Given the description of an element on the screen output the (x, y) to click on. 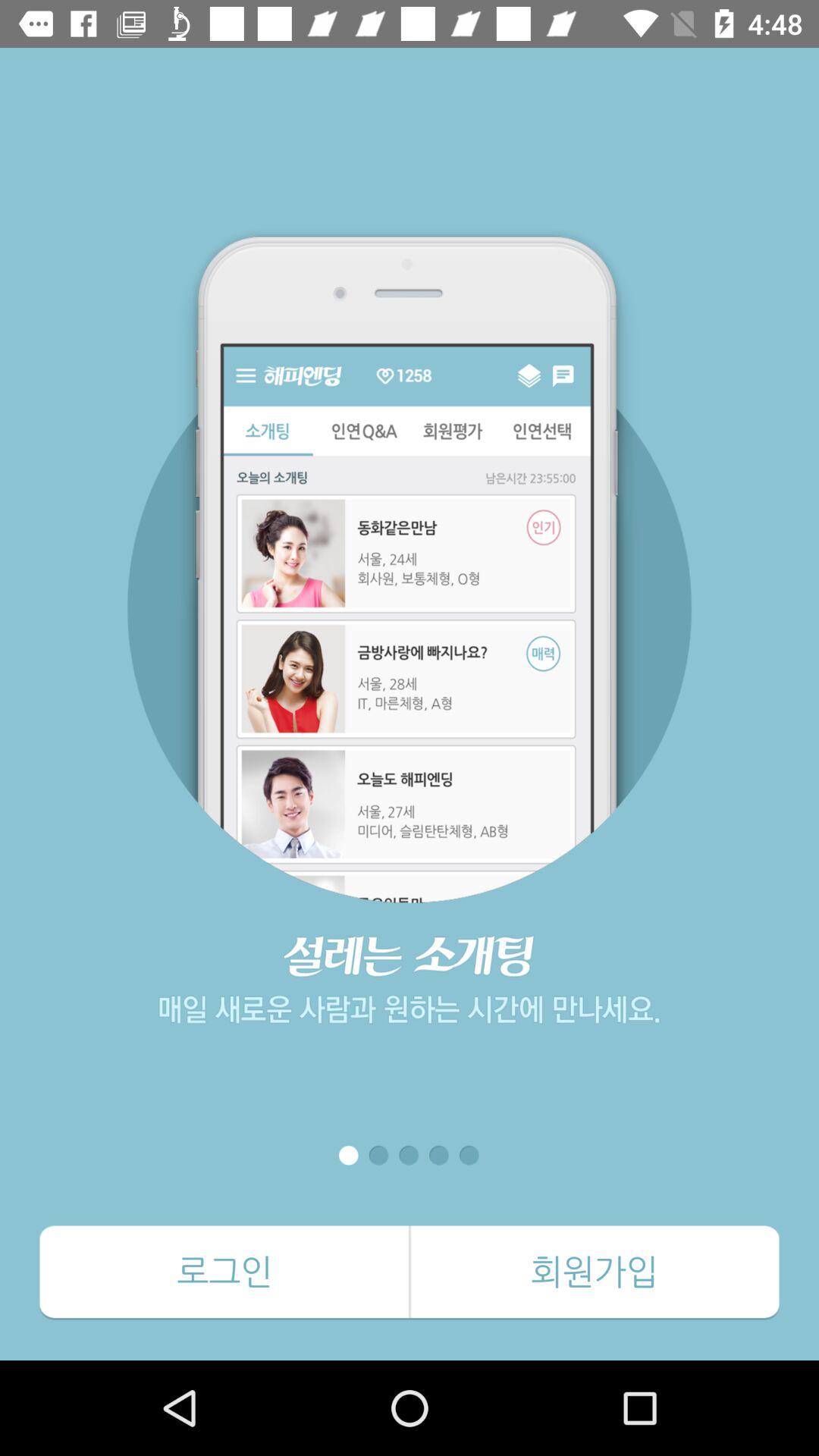
turn off the icon at the bottom right corner (594, 1272)
